Given the description of an element on the screen output the (x, y) to click on. 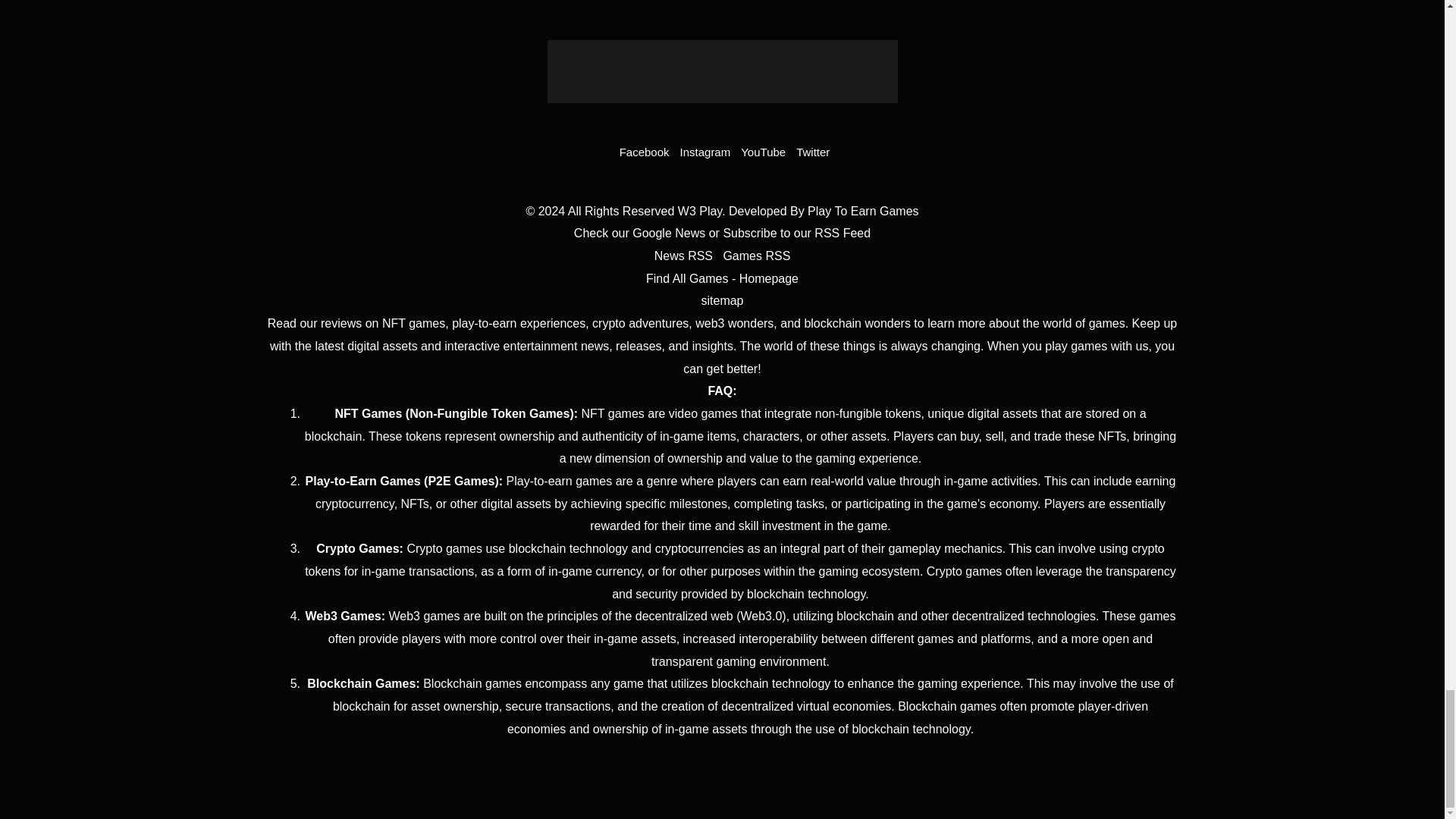
YouTube (761, 152)
Twitter (810, 152)
Play To Earn Games (863, 210)
Facebook (641, 152)
Google News (667, 232)
Instagram (702, 152)
